Given the description of an element on the screen output the (x, y) to click on. 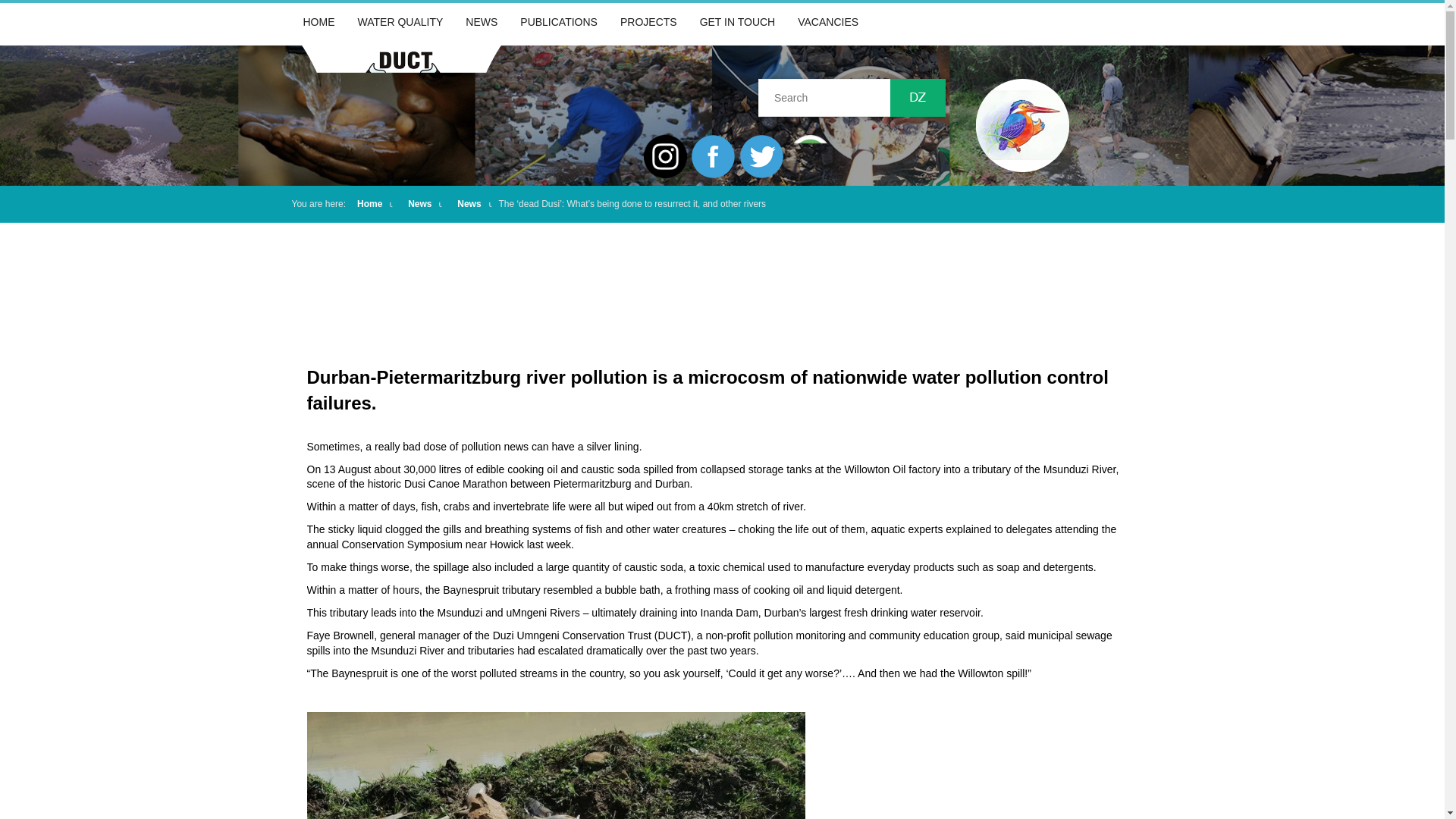
News (468, 204)
GET IN TOUCH (737, 22)
NEWS (481, 22)
HOME (318, 22)
VACANCIES (827, 22)
Home (368, 204)
News (418, 204)
WATER QUALITY (400, 22)
PUBLICATIONS (558, 22)
PROJECTS (648, 22)
